Given the description of an element on the screen output the (x, y) to click on. 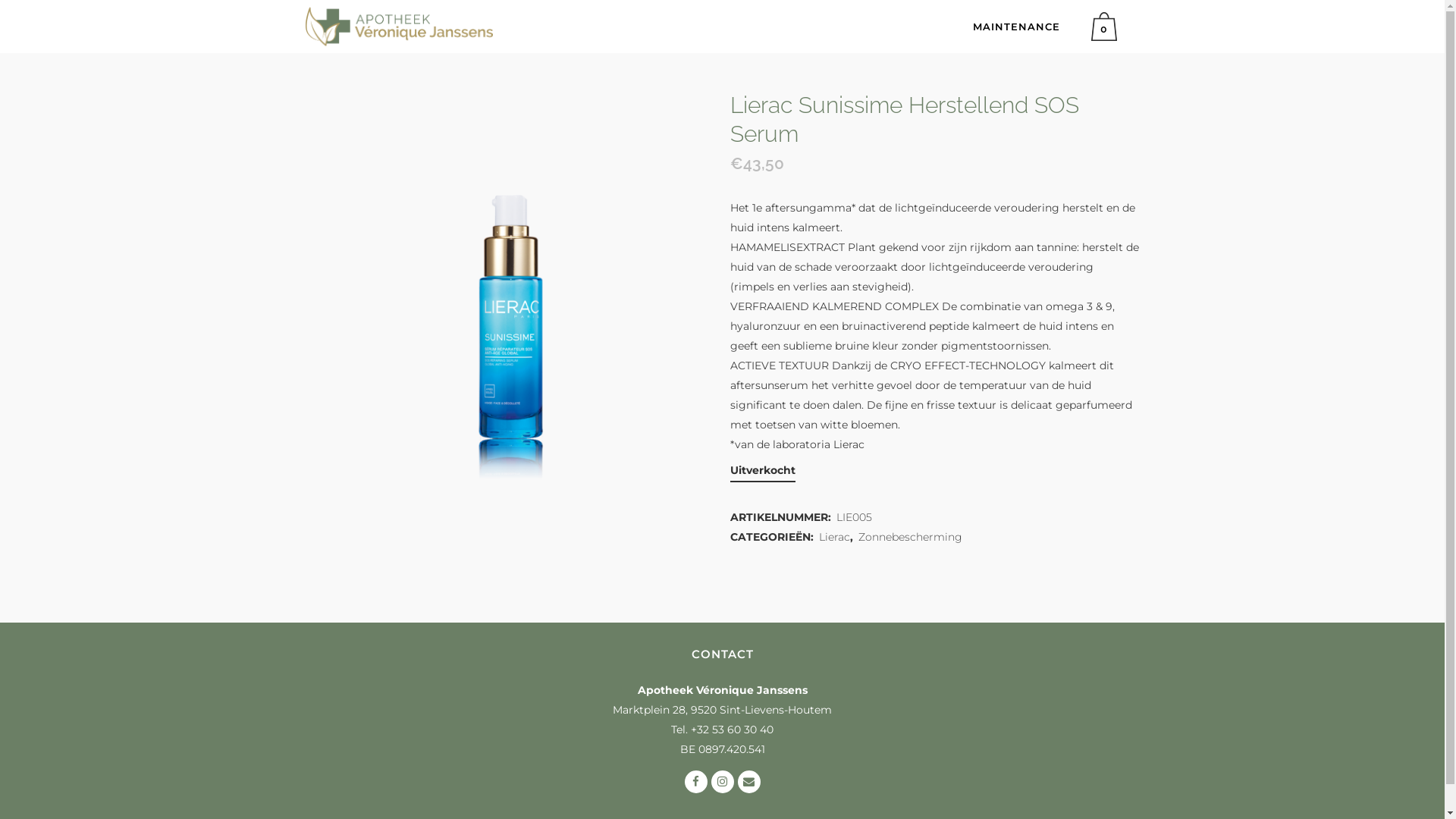
Lierac Element type: text (834, 536)
Zonnebescherming Element type: text (910, 536)
LIE005 LIerac Sunissime Herstellend SOS Serum Element type: hover (509, 288)
MAINTENANCE Element type: text (1016, 26)
0 Element type: text (1106, 26)
